Given the description of an element on the screen output the (x, y) to click on. 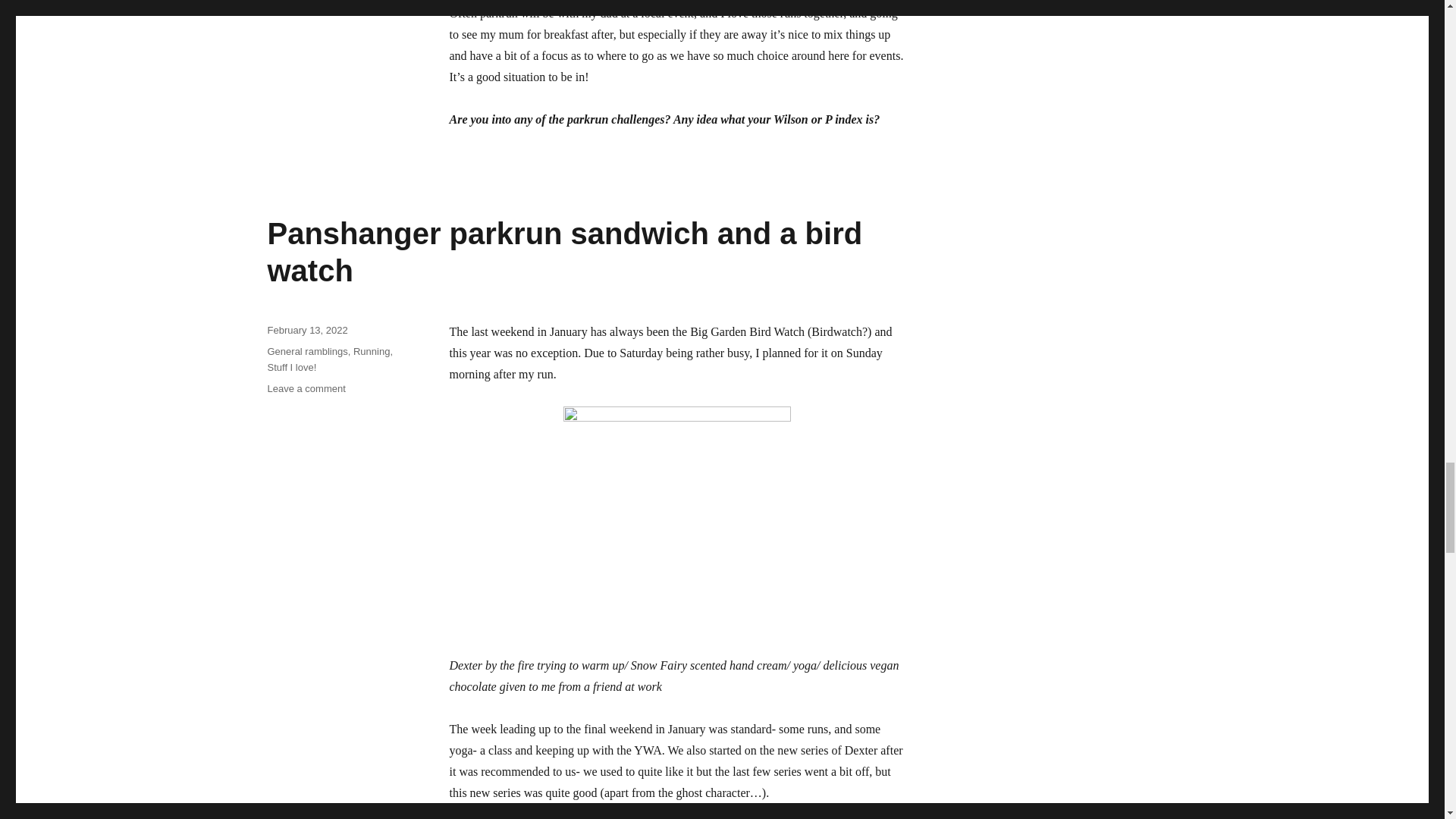
Running (371, 351)
February 13, 2022 (306, 329)
Stuff I love! (290, 367)
General ramblings (306, 351)
Panshanger parkrun sandwich and a bird watch (563, 252)
